Given the description of an element on the screen output the (x, y) to click on. 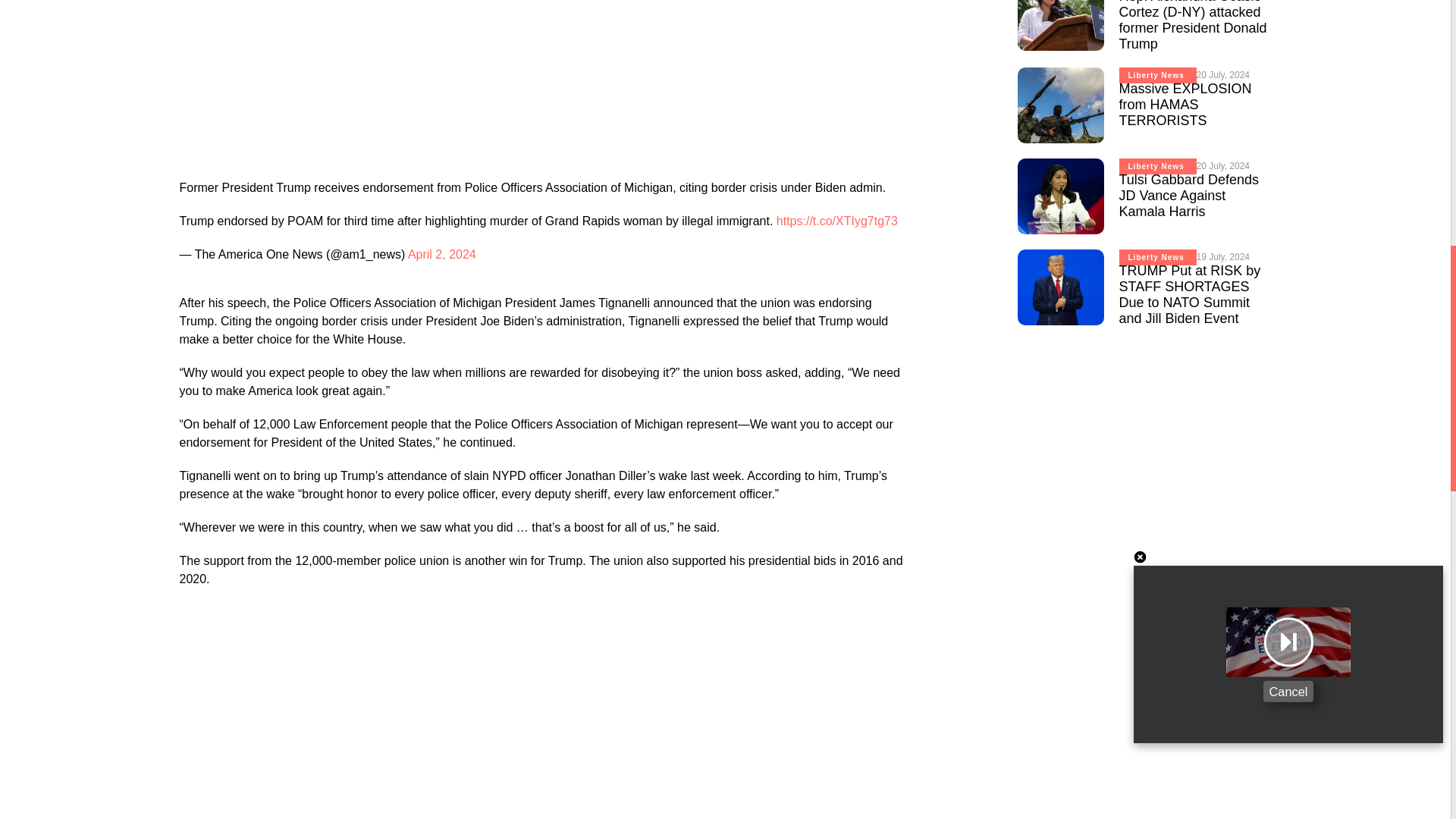
April 2, 2024 (441, 254)
